Given the description of an element on the screen output the (x, y) to click on. 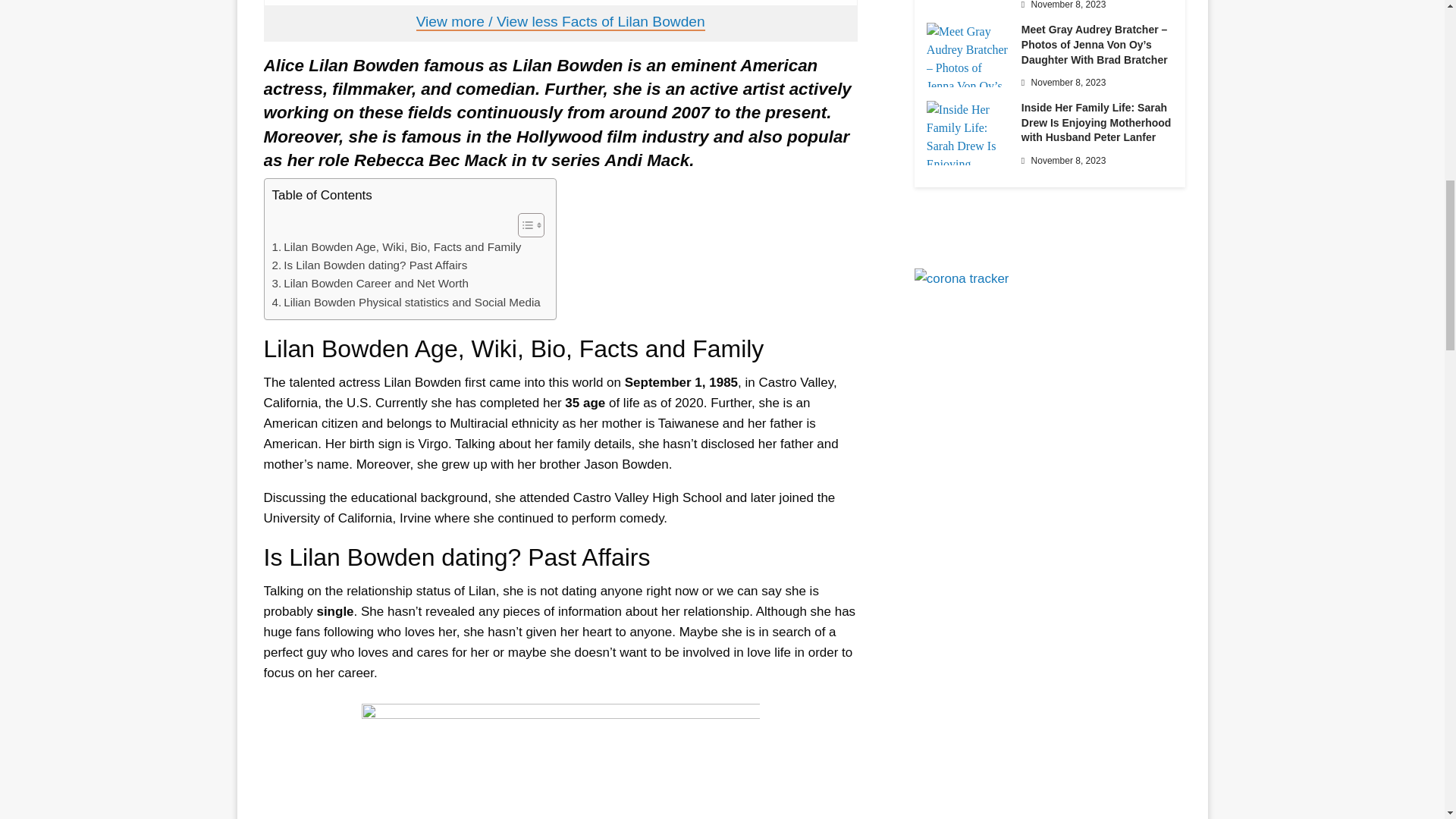
Lilan Bowden Age, Wiki, Bio, Facts and Family (395, 247)
Is Lilan Bowden dating? Past Affairs (368, 265)
Lilan Bowden Age, Wiki, Bio, Facts and Family (395, 247)
Lilan Bowden Career and Net Worth (368, 283)
Lilian Bowden Physical statistics and Social Media (405, 301)
Is Lilan Bowden dating? Past Affairs (368, 265)
